Given the description of an element on the screen output the (x, y) to click on. 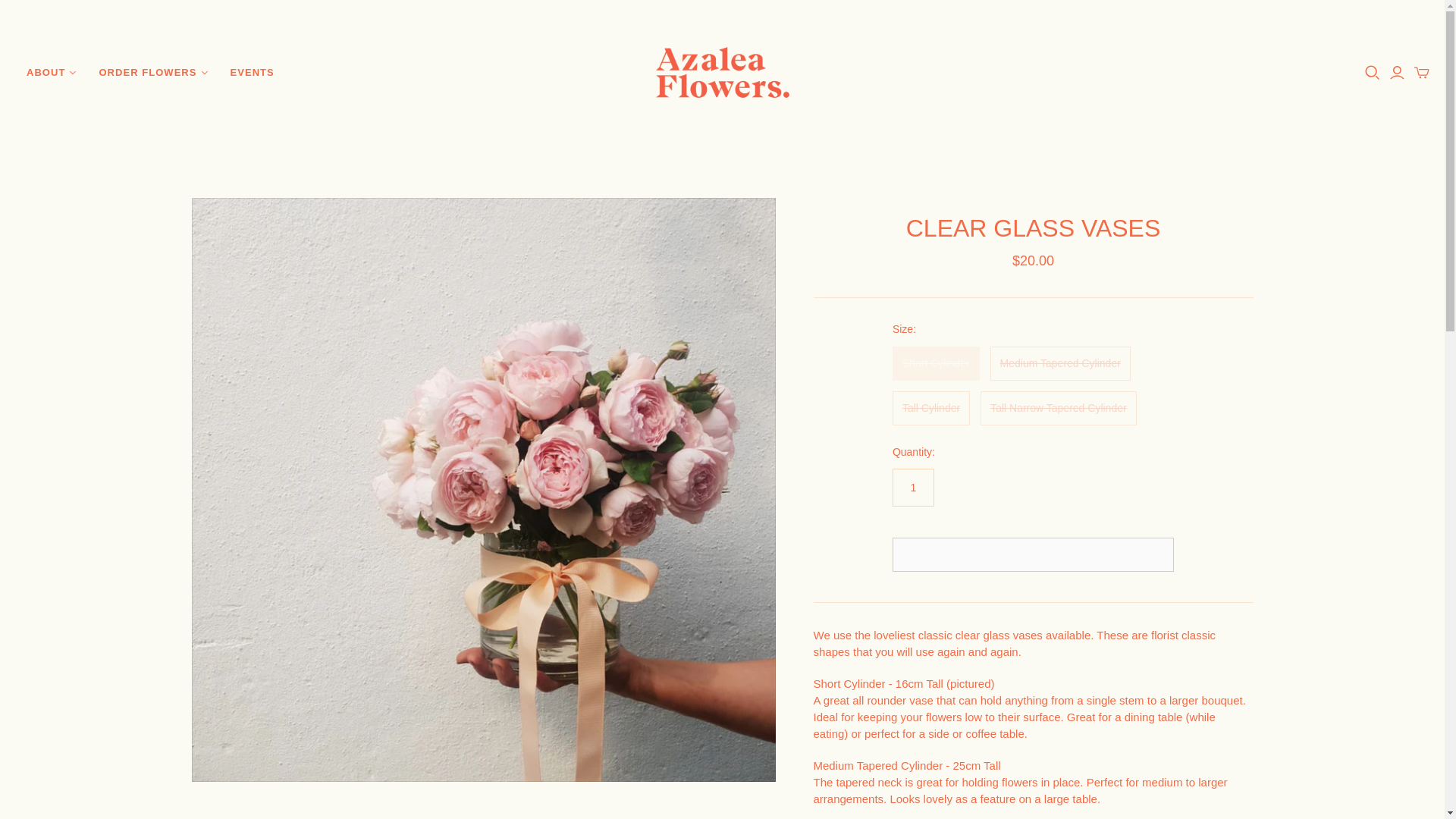
ORDER FLOWERS (152, 72)
1 (913, 487)
ABOUT (50, 72)
EVENTS (251, 72)
